Given the description of an element on the screen output the (x, y) to click on. 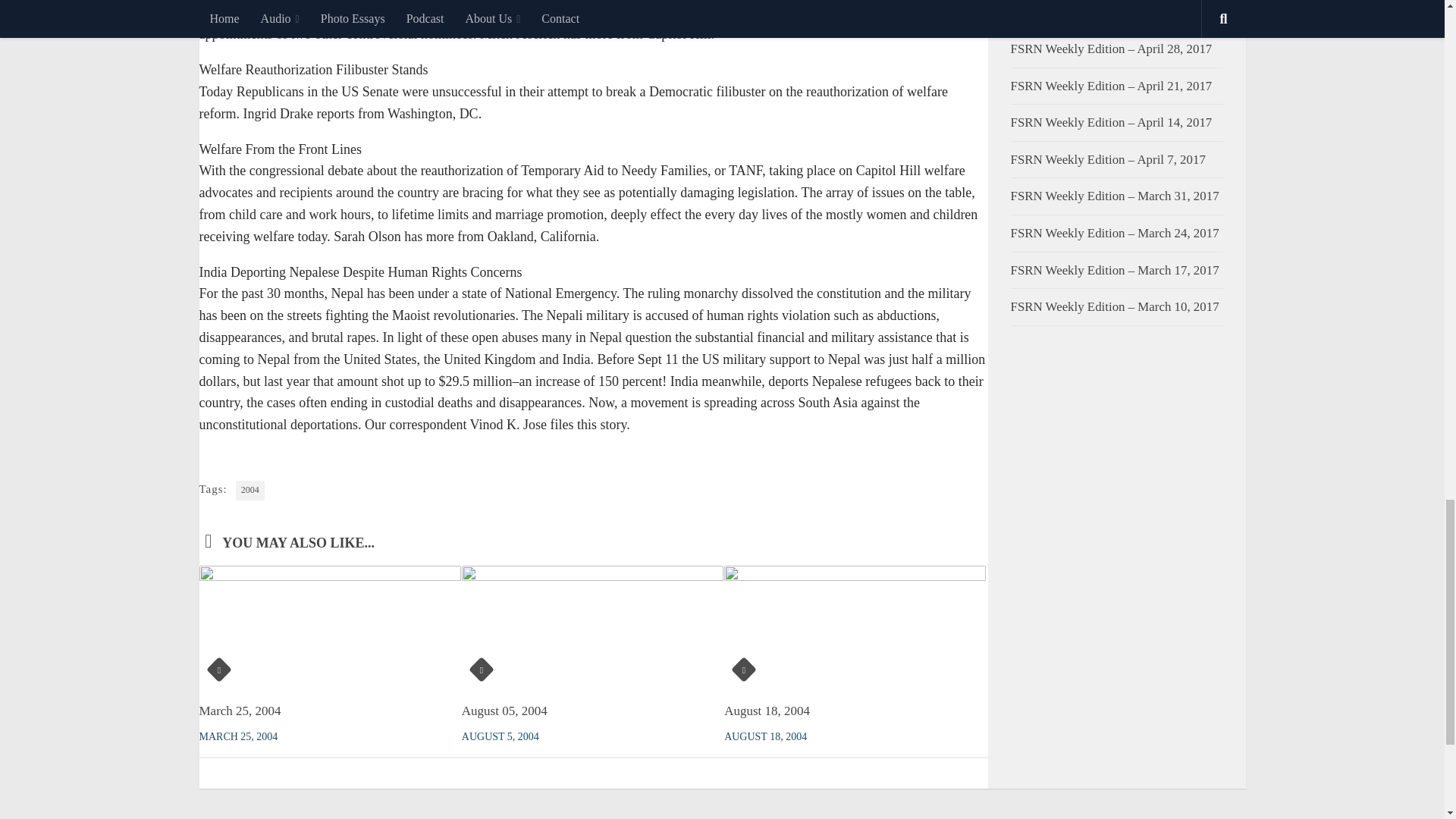
2004 (249, 490)
August 05, 2004 (504, 710)
August 18, 2004 (766, 710)
March 25, 2004 (239, 710)
